Given the description of an element on the screen output the (x, y) to click on. 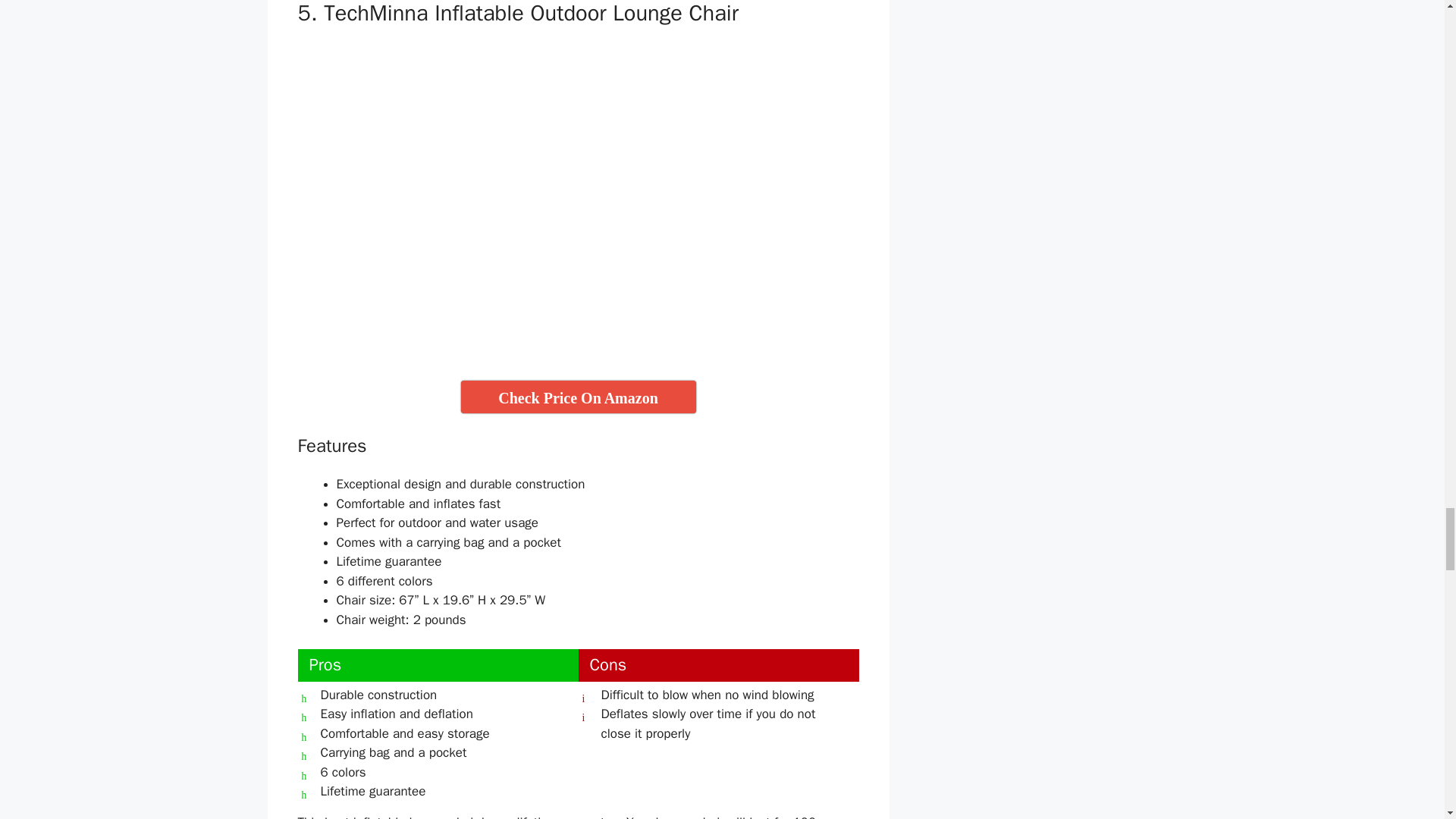
Check Price On Amazon (578, 396)
